Given the description of an element on the screen output the (x, y) to click on. 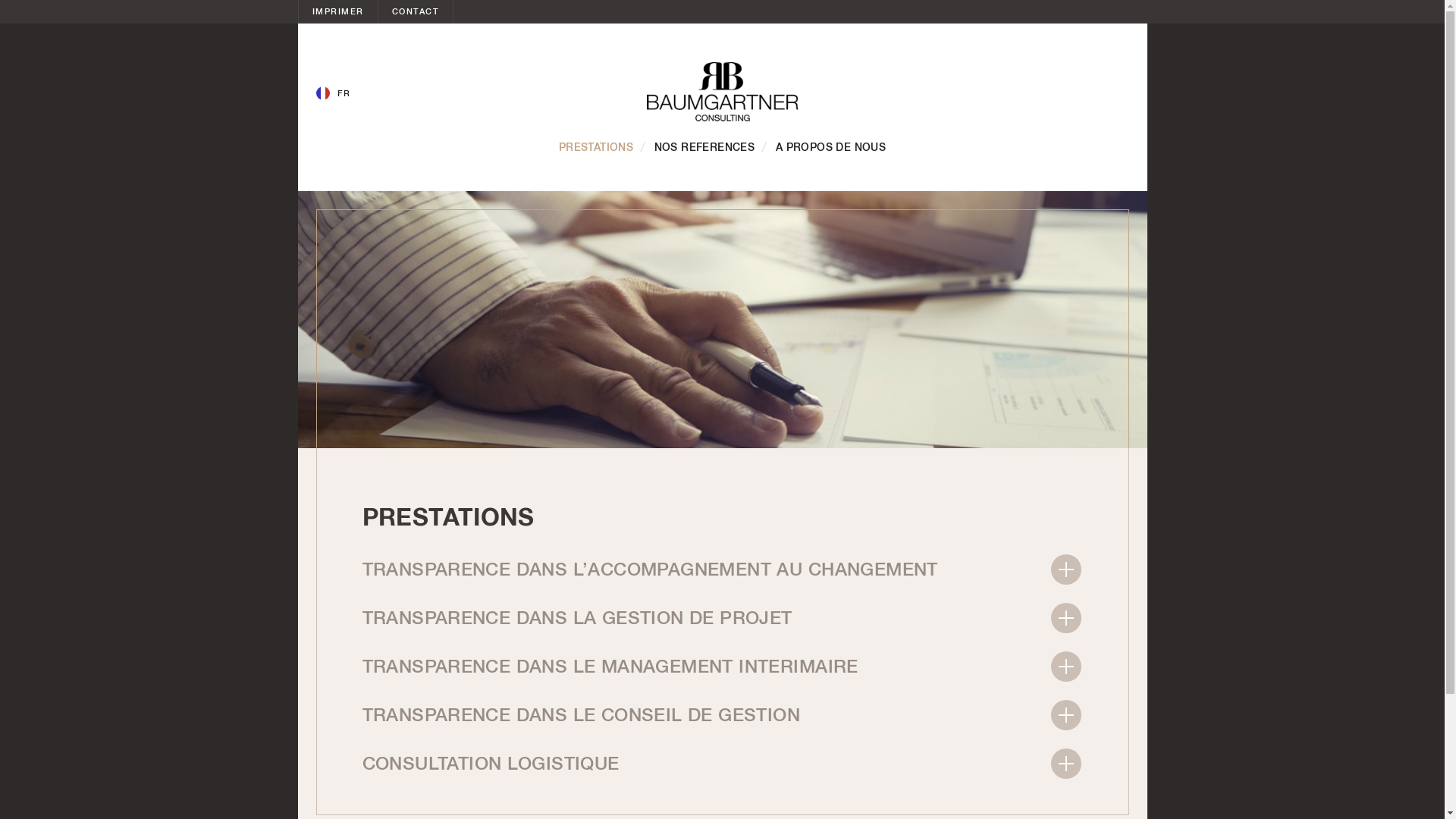
CONTACT Element type: text (414, 11)
A PROPOS DE NOUS Element type: text (830, 147)
FR Element type: text (332, 93)
PRESTATIONS Element type: text (595, 147)
NOS REFERENCES Element type: text (704, 147)
IMPRIMER Element type: text (337, 11)
